Given the description of an element on the screen output the (x, y) to click on. 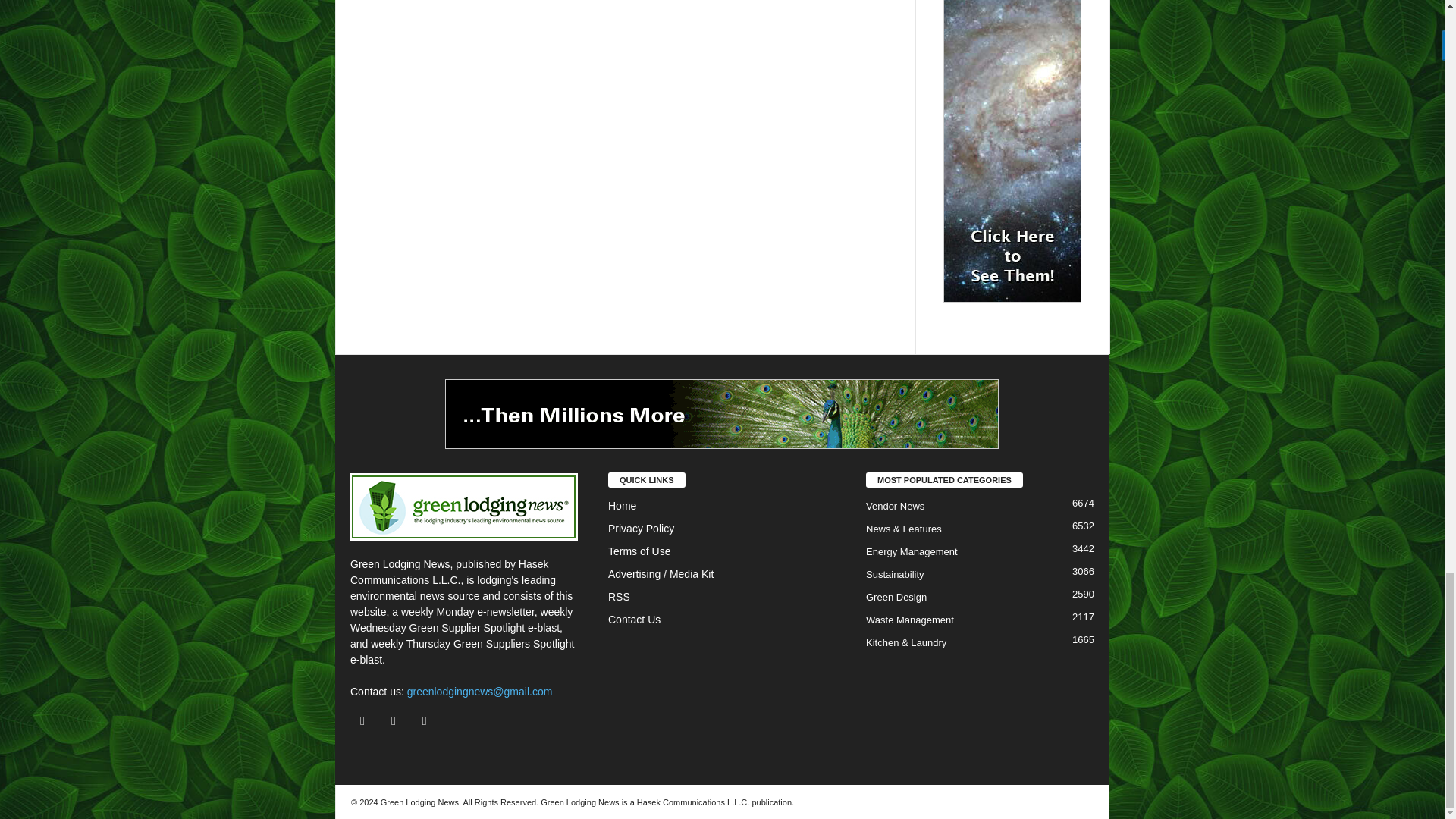
Facebook (365, 720)
